Given the description of an element on the screen output the (x, y) to click on. 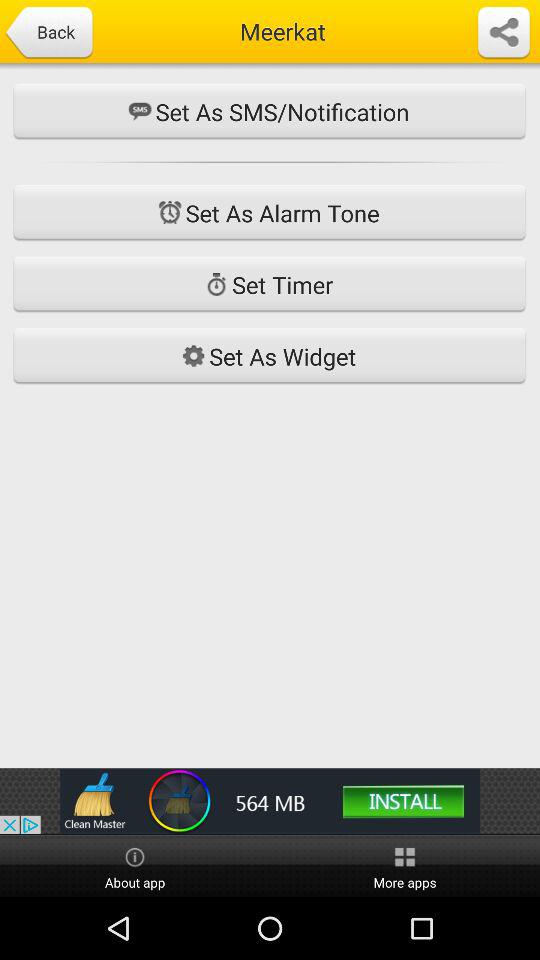
select a icon which is before set as widget (193, 355)
click on back button which is at the top left corner (47, 32)
select share icon at the top right side of the page (503, 32)
